Given the description of an element on the screen output the (x, y) to click on. 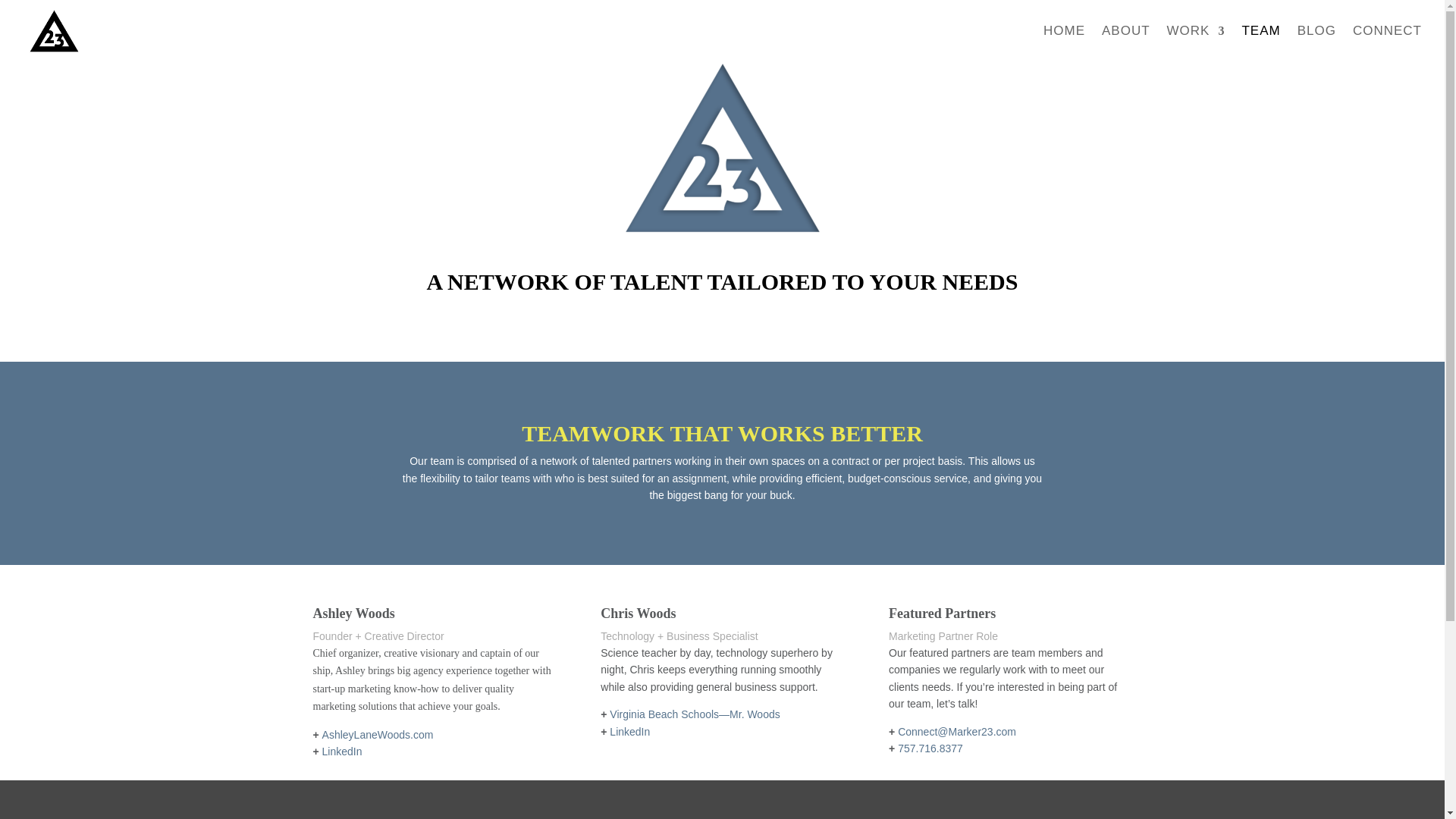
HOME (1063, 43)
WORK (1196, 43)
CONNECT (1387, 43)
BLOG (1316, 43)
LinkedIn (341, 751)
TEAM (1260, 43)
ABOUT (1126, 43)
AshleyLaneWoods.com (377, 734)
LinkedIn (629, 731)
